Given the description of an element on the screen output the (x, y) to click on. 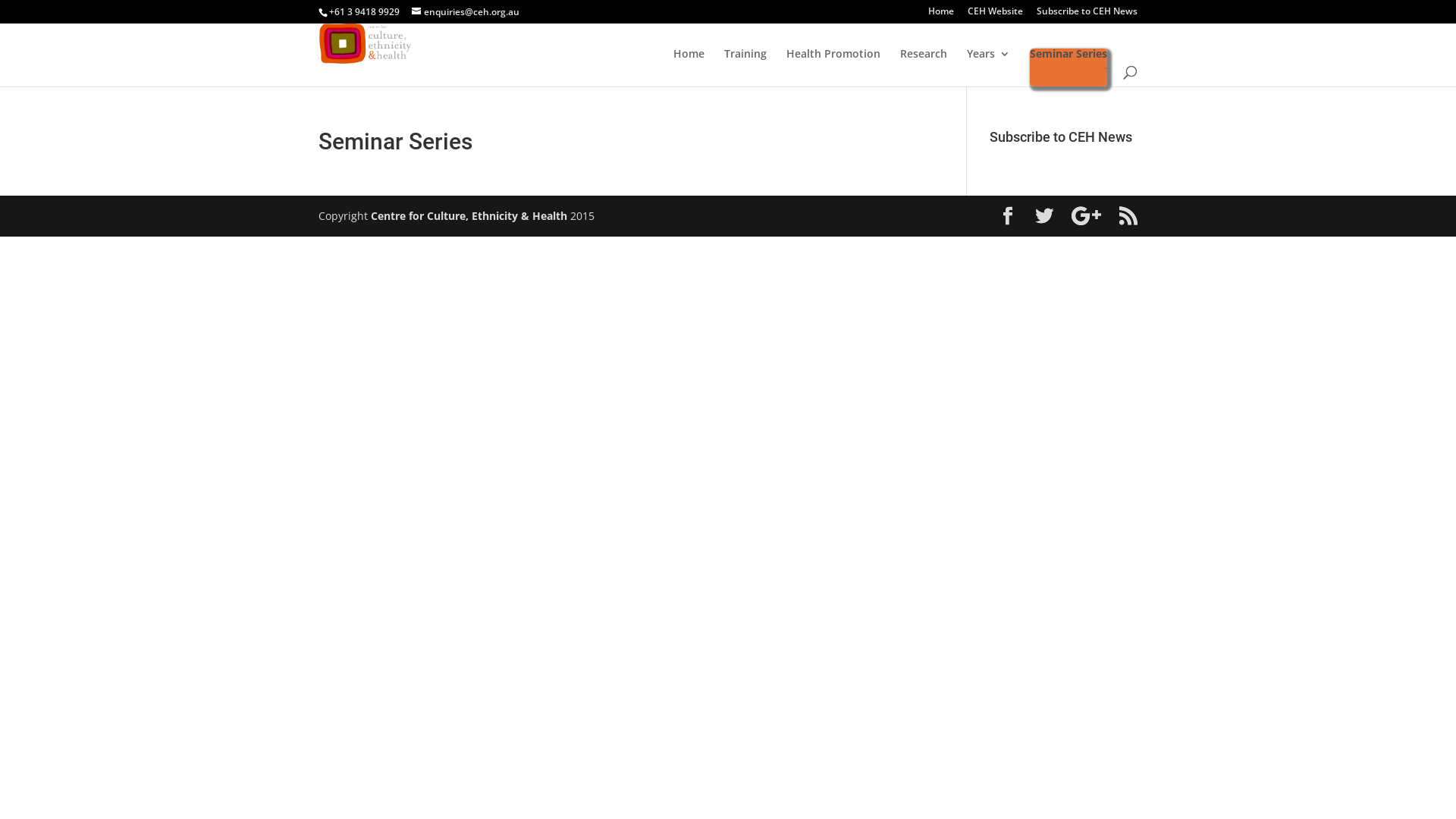
Centre for Culture, Ethnicity & Health Element type: text (468, 215)
Training Element type: text (745, 66)
Subscribe to CEH News Element type: text (1086, 14)
Home Element type: text (688, 66)
Research Element type: text (923, 66)
+61 3 9418 9929 Element type: text (363, 11)
Seminar Series Element type: text (1068, 66)
CEH Website Element type: text (994, 14)
enquiries@ceh.org.au Element type: text (465, 11)
Home Element type: text (940, 14)
Health Promotion Element type: text (833, 66)
Search for: Element type: hover (1108, 68)
Years Element type: text (988, 66)
